Given the description of an element on the screen output the (x, y) to click on. 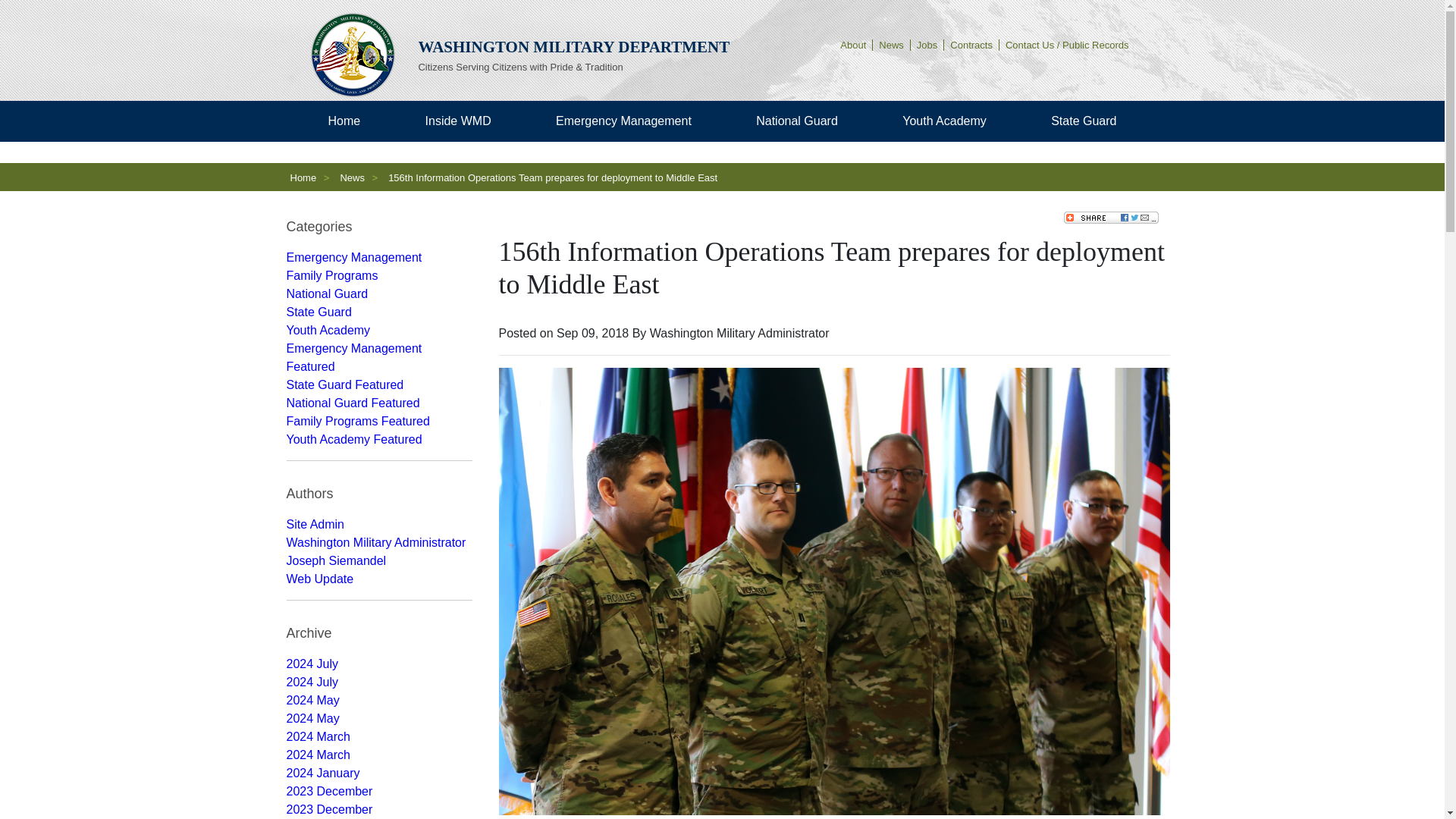
Inside WMD (457, 120)
News (891, 44)
Home (344, 120)
Contracts (970, 44)
Jobs (927, 44)
About (853, 44)
